Given the description of an element on the screen output the (x, y) to click on. 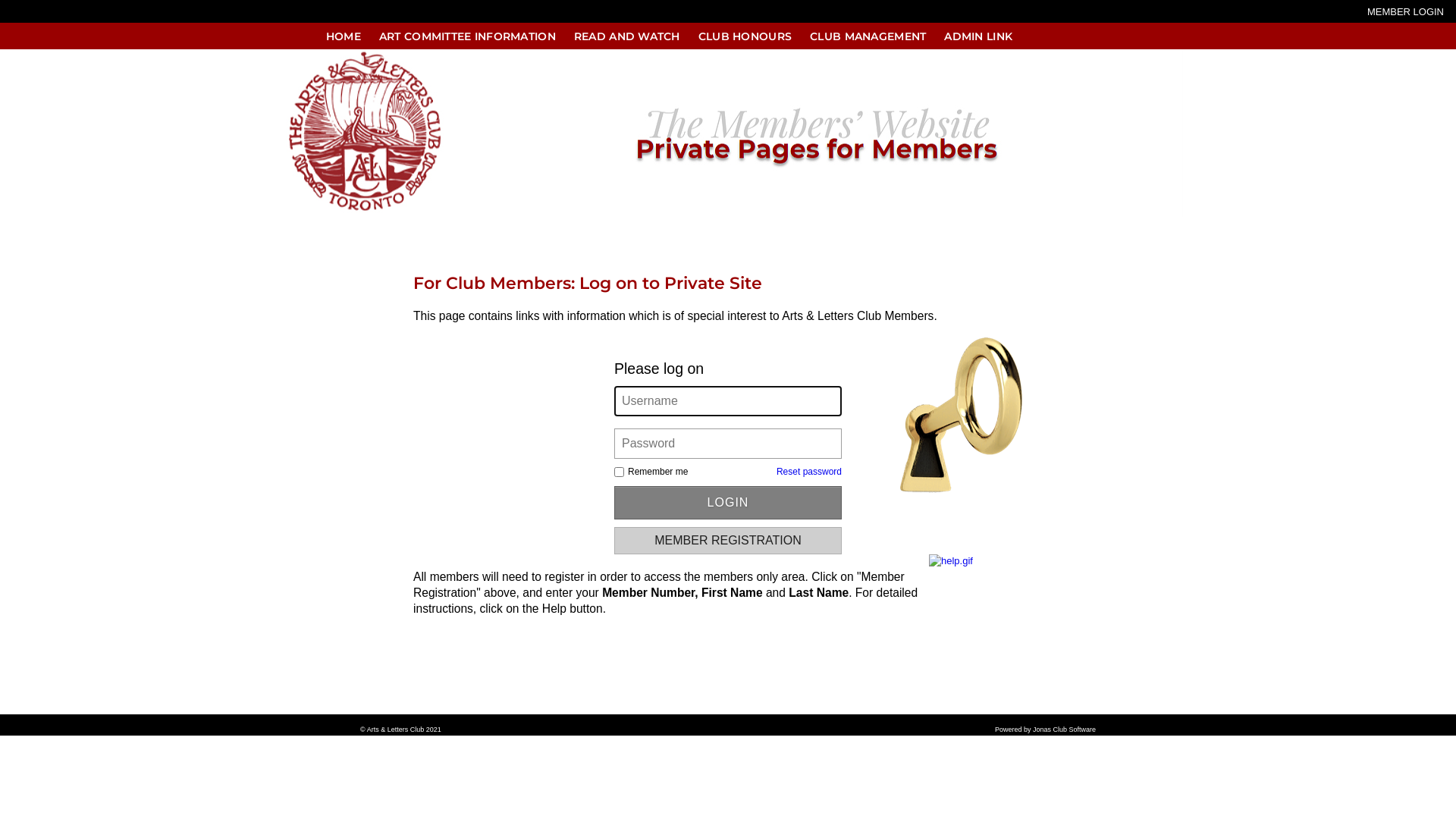
READ AND WATCH Element type: text (626, 35)
MEMBER REGISTRATION Element type: text (727, 540)
ADMIN LINK Element type: text (978, 35)
CLUB HONOURS Element type: text (744, 35)
Reset password Element type: text (808, 470)
CLUB MANAGEMENT Element type: text (867, 35)
HOME Element type: text (343, 35)
MEMBER LOGIN Element type: text (1391, 12)
Login Element type: text (727, 501)
ART COMMITTEE INFORMATION Element type: text (467, 35)
Powered by Jonas Club Software Element type: text (1044, 729)
